Given the description of an element on the screen output the (x, y) to click on. 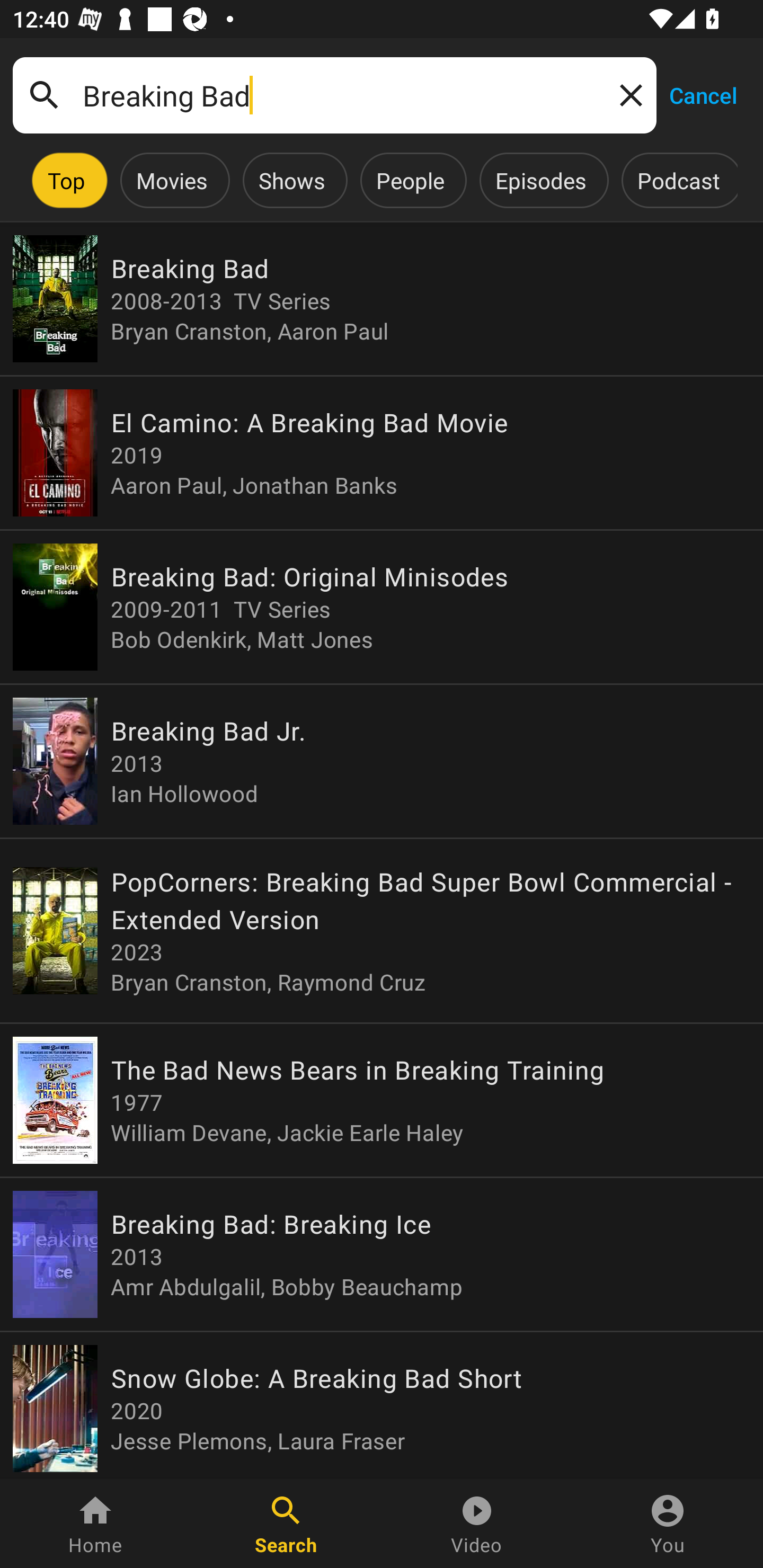
Clear query (627, 94)
Cancel (703, 94)
Breaking Bad (334, 95)
Top (66, 180)
Movies (171, 180)
Shows (291, 180)
People (410, 180)
Episodes (540, 180)
Podcast (678, 180)
Breaking Bad Jr. 2013 Ian Hollowood (381, 761)
Home (95, 1523)
Video (476, 1523)
You (667, 1523)
